Given the description of an element on the screen output the (x, y) to click on. 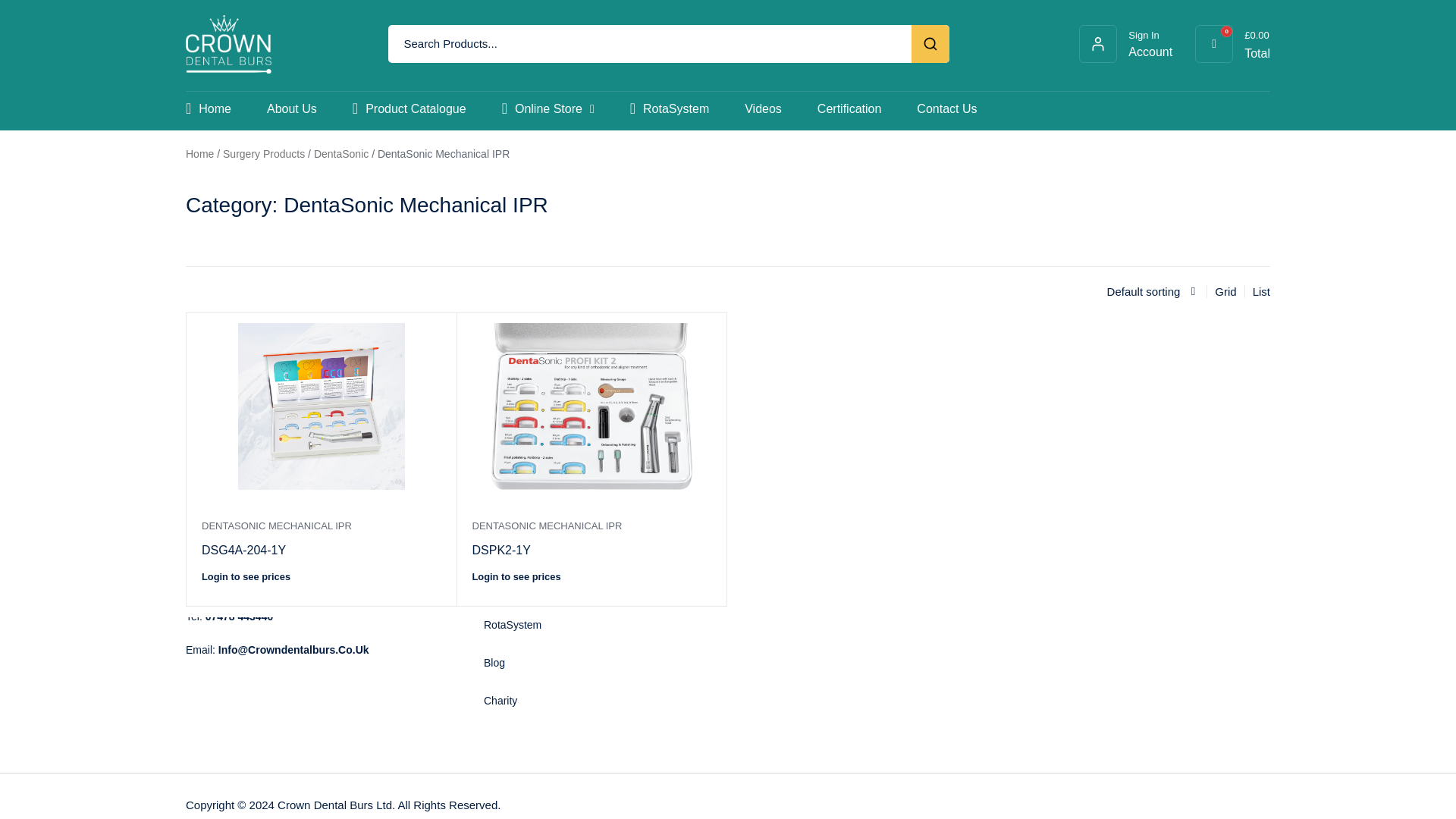
Product Catalogue (408, 108)
Videos (762, 108)
Home (208, 108)
Certification (848, 108)
Online Store (548, 108)
logo (228, 44)
About Us (1150, 43)
Subscribe (291, 108)
RotaSystem (936, 427)
